Given the description of an element on the screen output the (x, y) to click on. 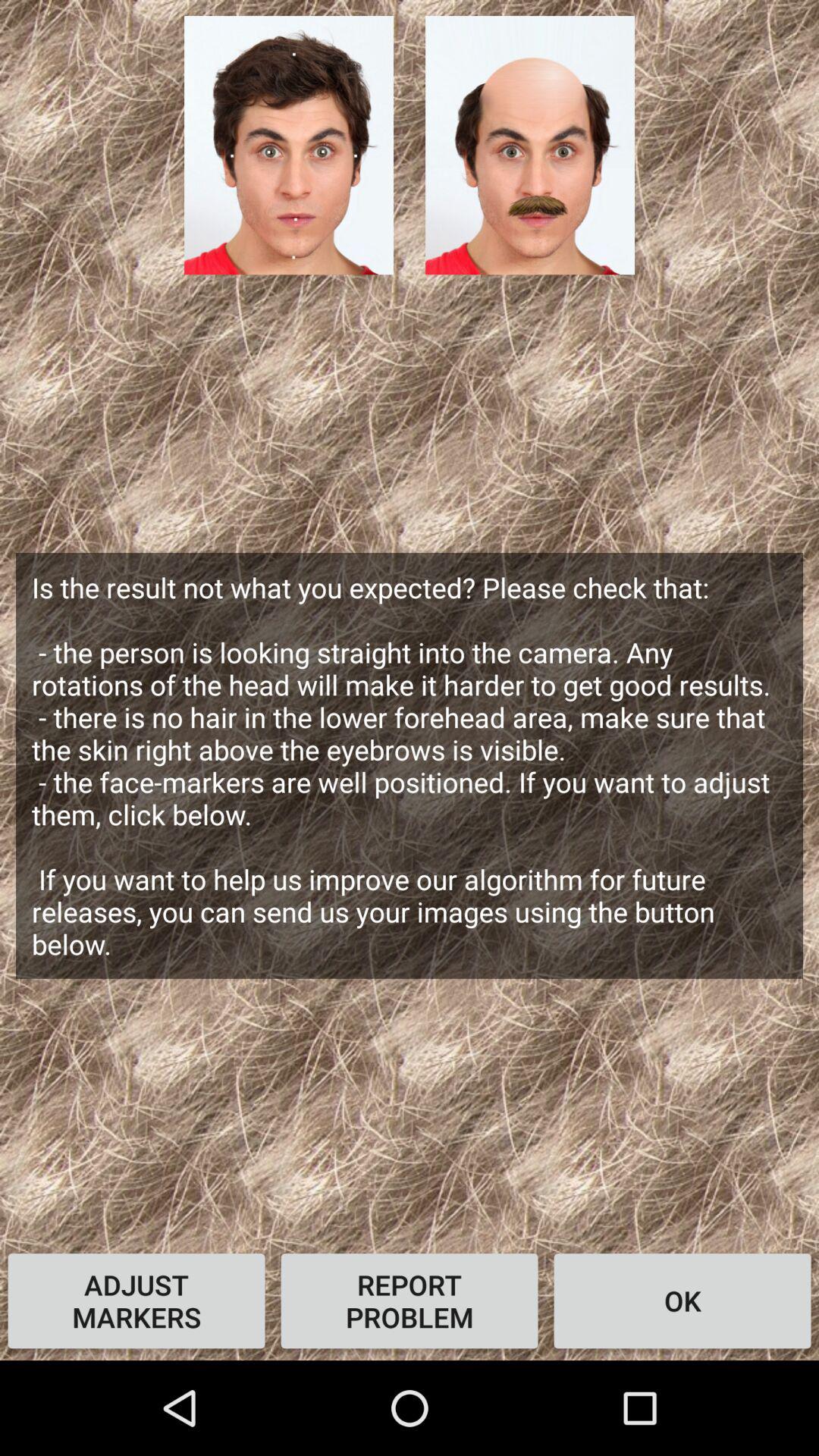
tap icon below the is the result (136, 1300)
